Given the description of an element on the screen output the (x, y) to click on. 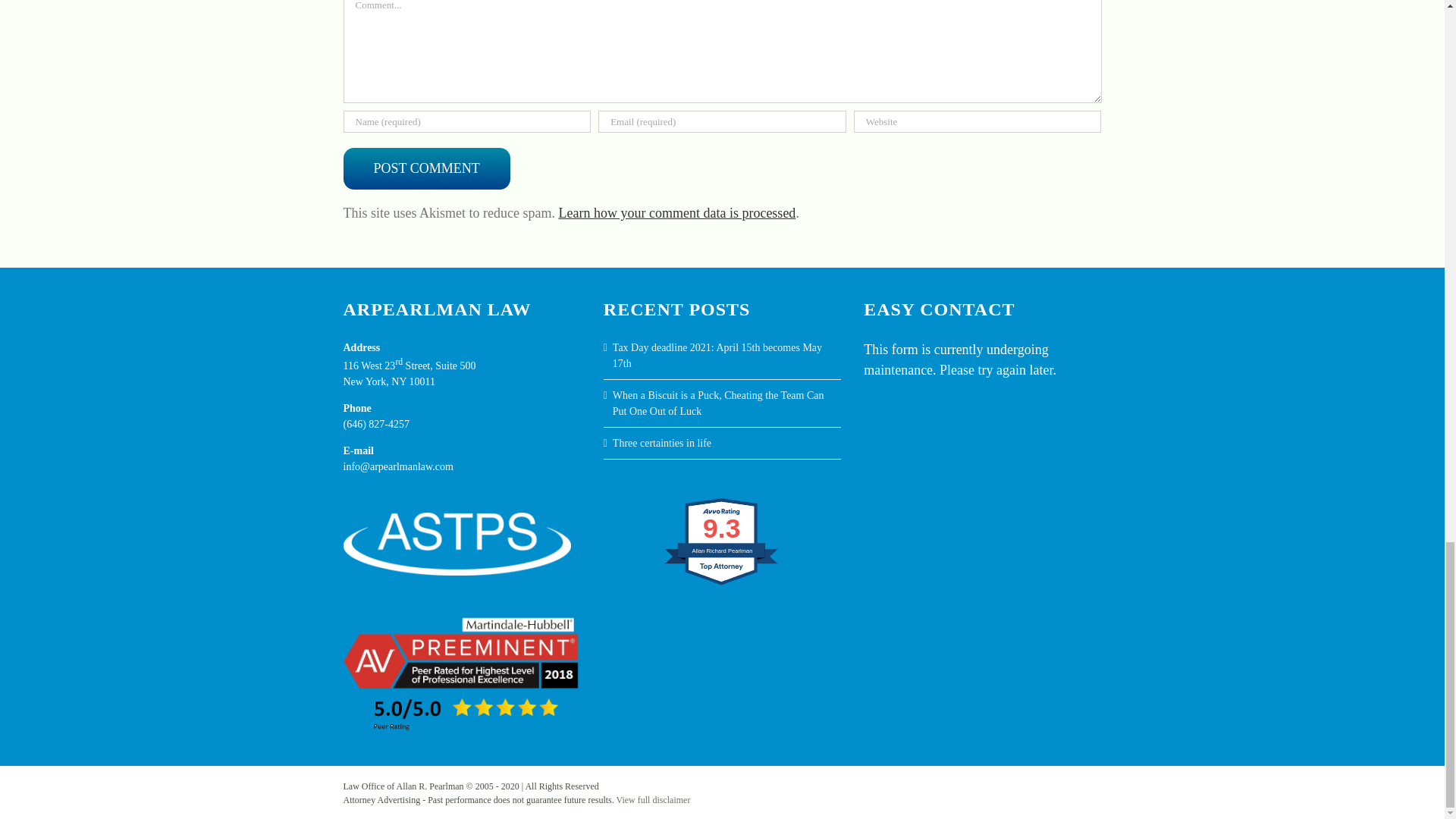
Post Comment (425, 168)
